Given the description of an element on the screen output the (x, y) to click on. 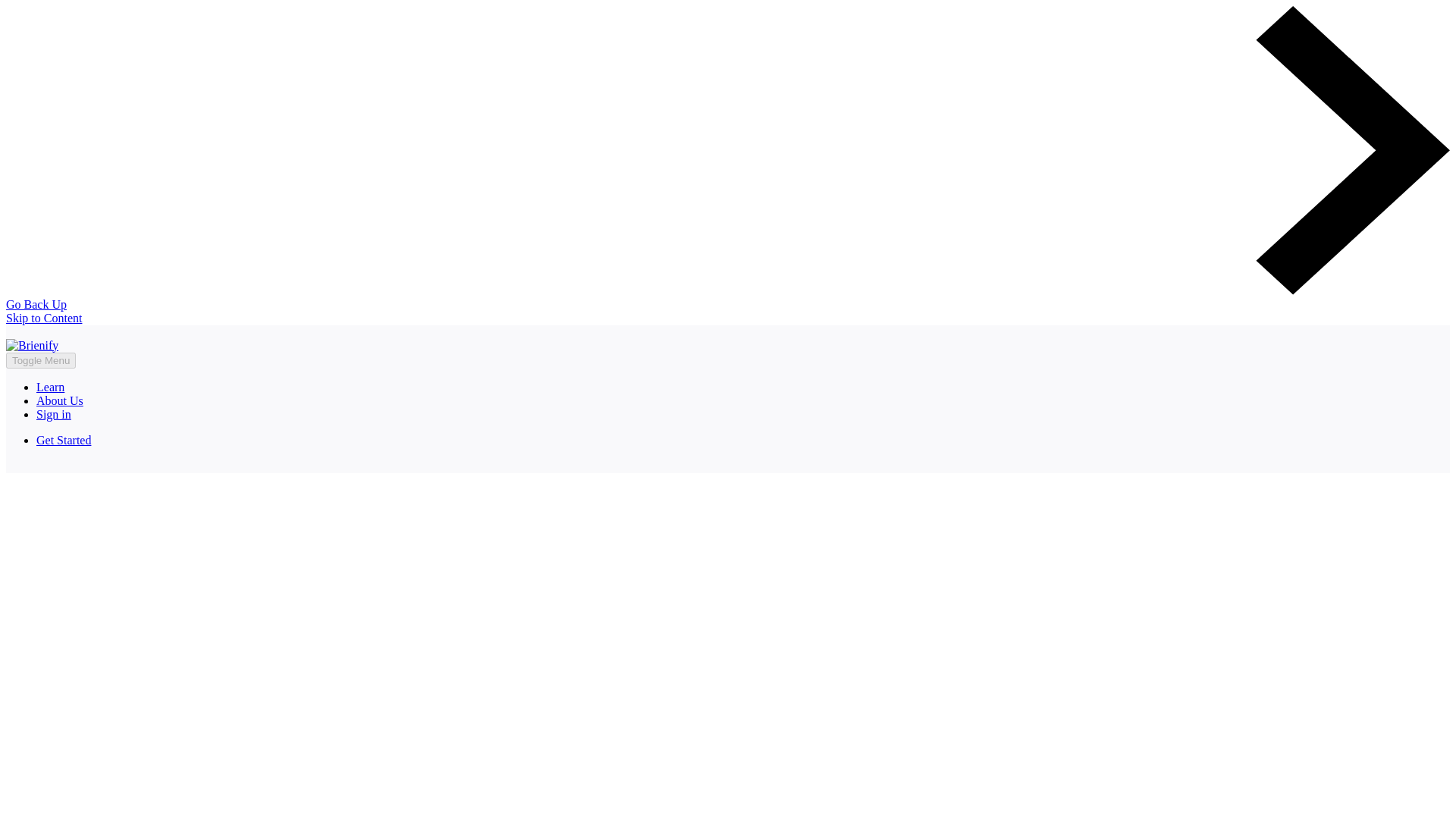
Sign in (53, 413)
Learn (50, 386)
Brienify (31, 345)
Toggle Menu (40, 360)
Get Started (63, 440)
About Us (59, 400)
Skip to Content (43, 318)
